Given the description of an element on the screen output the (x, y) to click on. 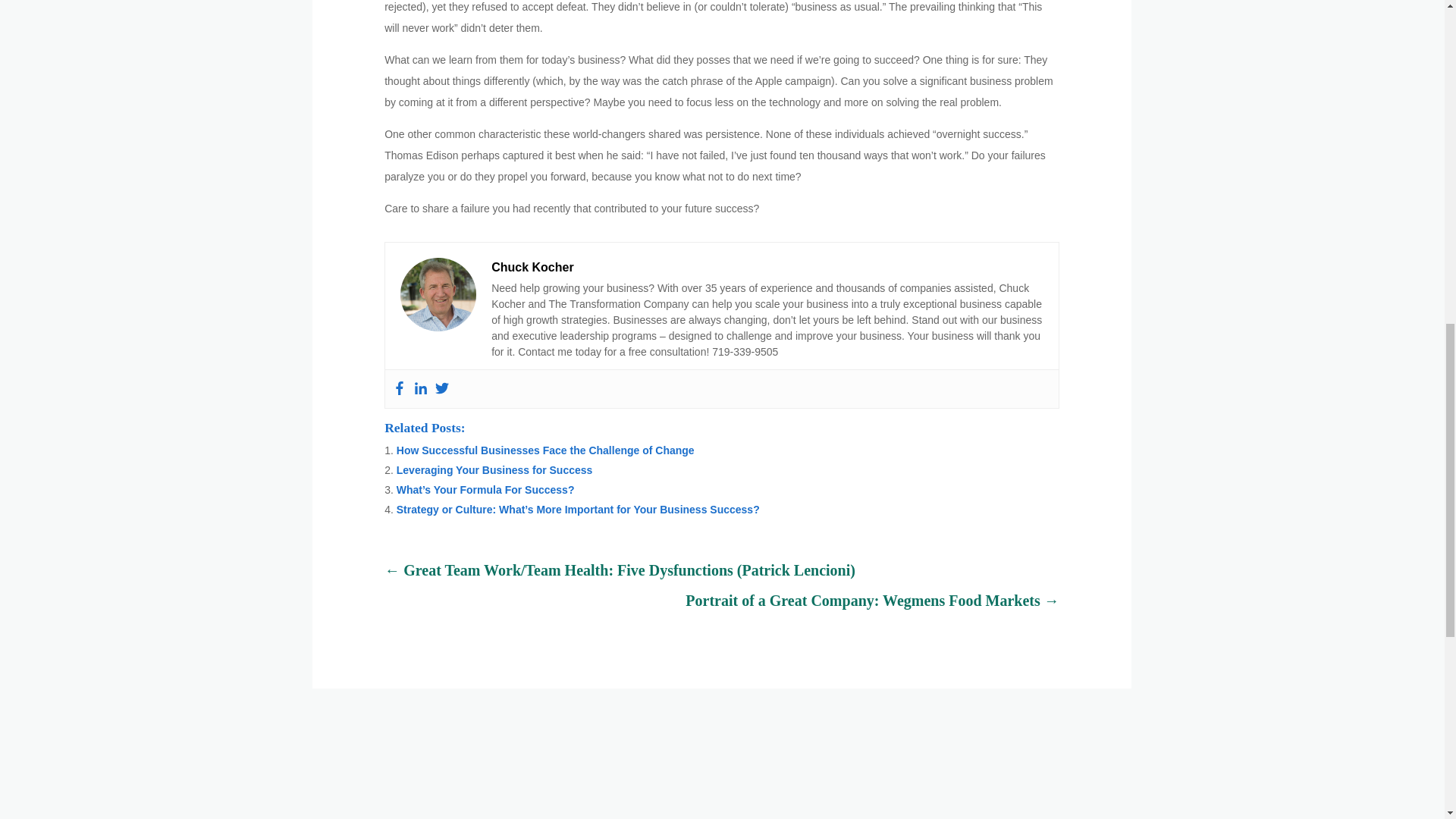
Leveraging Your Business for Success (494, 469)
Twitter (441, 388)
Facebook (399, 388)
Linkedin (420, 388)
How Successful Businesses Face the Challenge of Change (545, 450)
Chuck Kocher (532, 266)
How Successful Businesses Face the Challenge of Change (545, 450)
Leveraging Your Business for Success (494, 469)
